Given the description of an element on the screen output the (x, y) to click on. 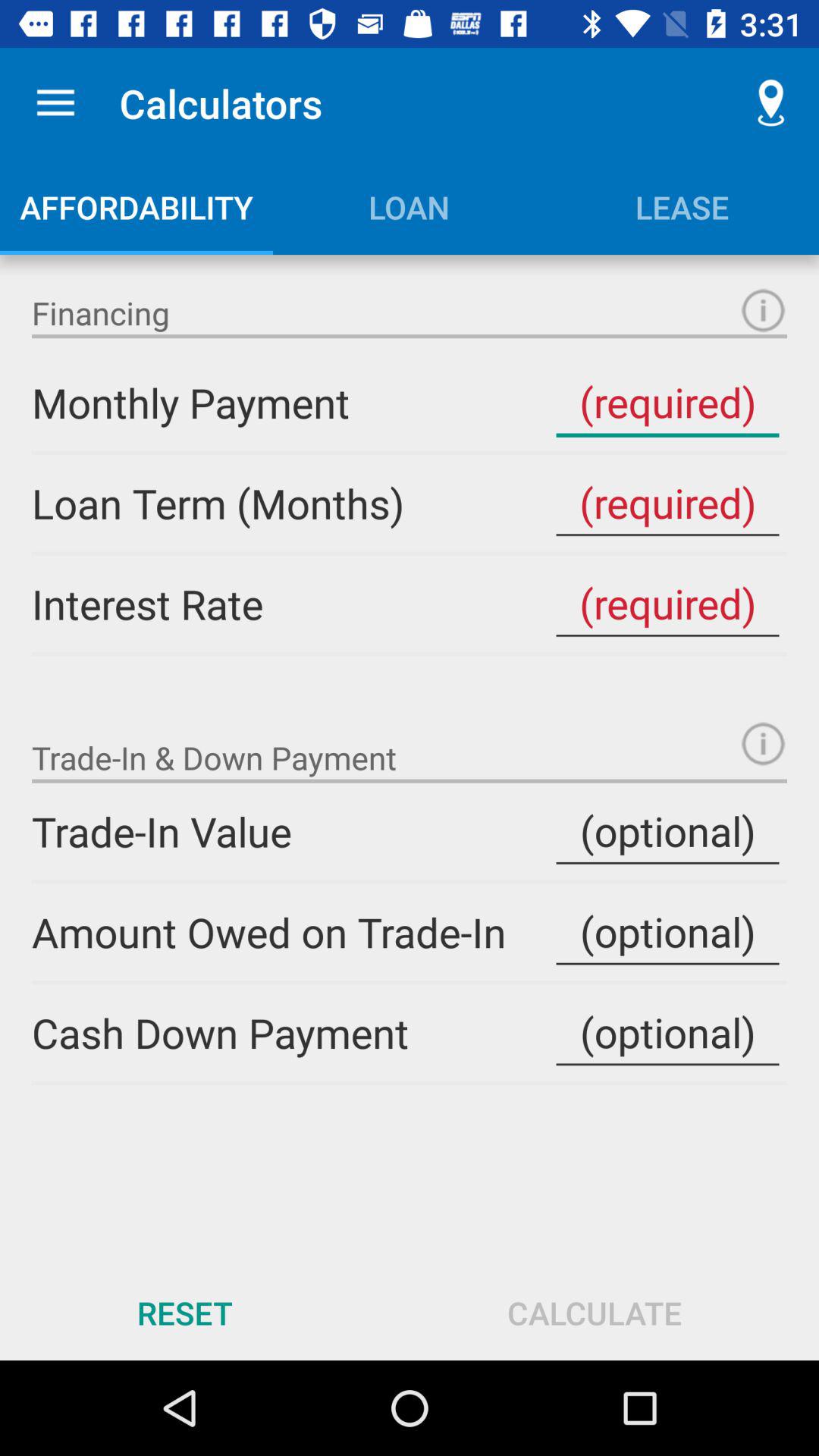
turn on the app to the left of calculators item (55, 103)
